Given the description of an element on the screen output the (x, y) to click on. 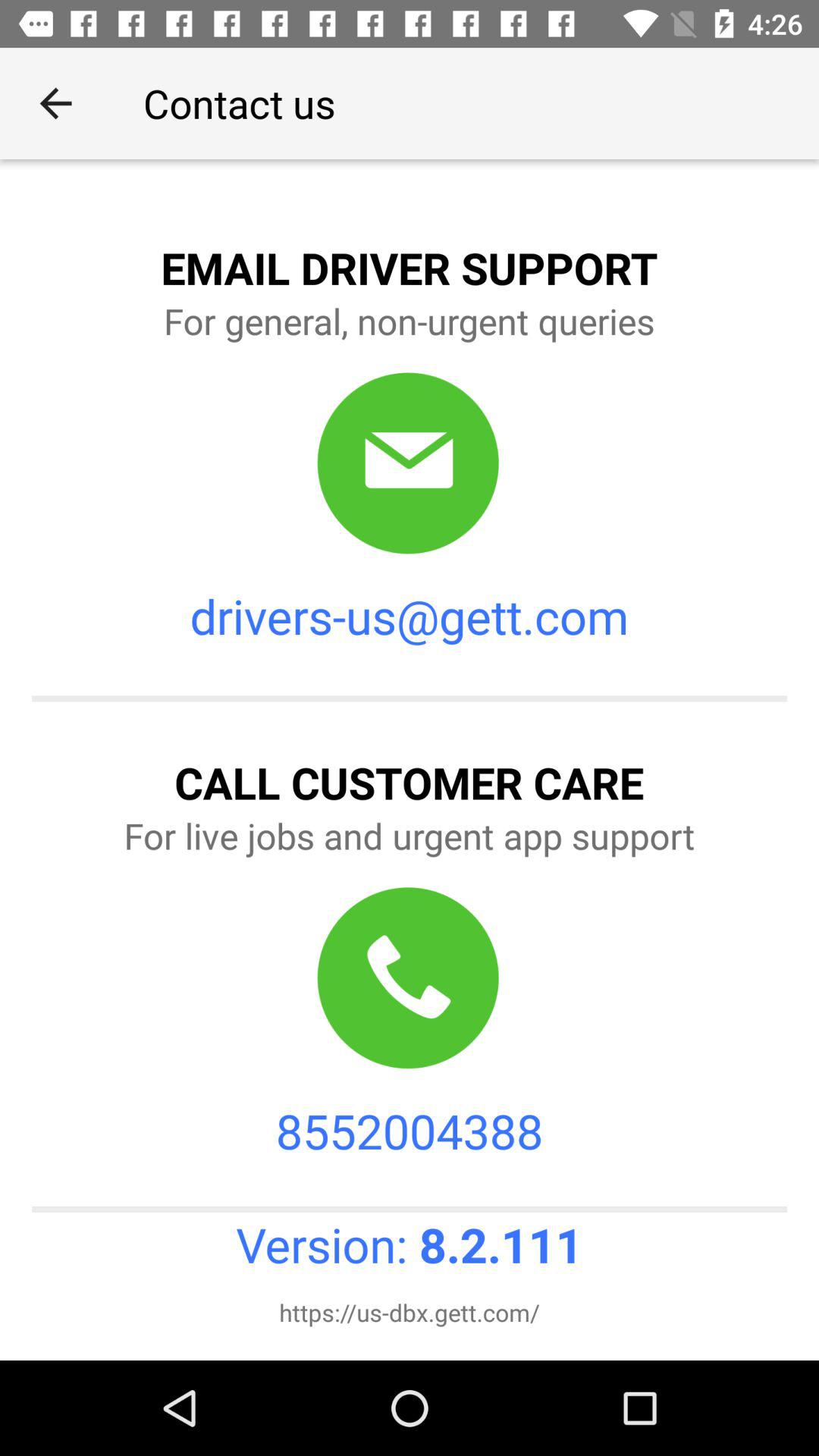
press the icon next to the contact us item (55, 103)
